Given the description of an element on the screen output the (x, y) to click on. 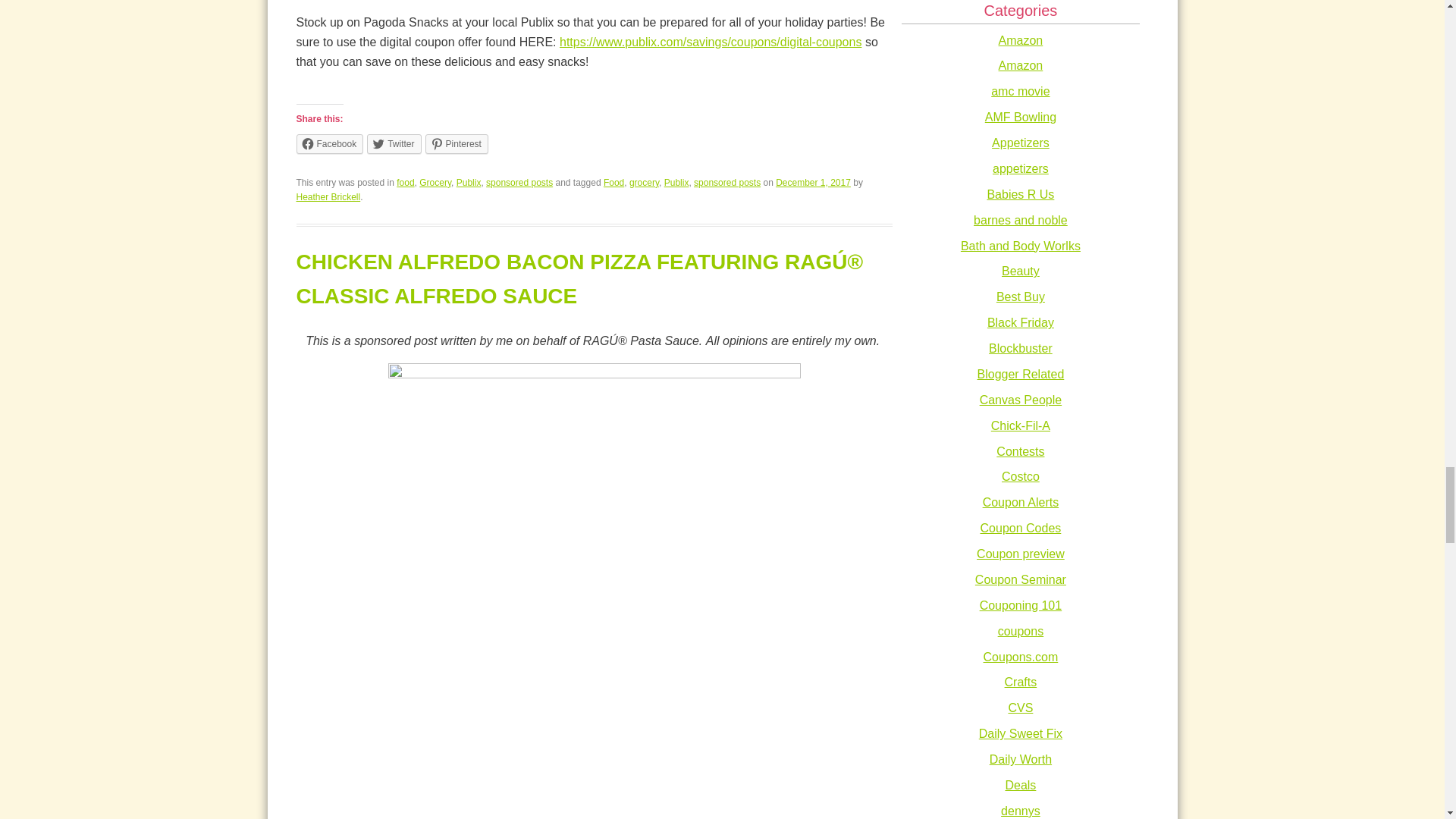
10:09 am (813, 182)
Click to share on Pinterest (456, 143)
Click to share on Facebook (328, 143)
Click to share on Twitter (393, 143)
View all posts by Heather Brickell (327, 196)
